Given the description of an element on the screen output the (x, y) to click on. 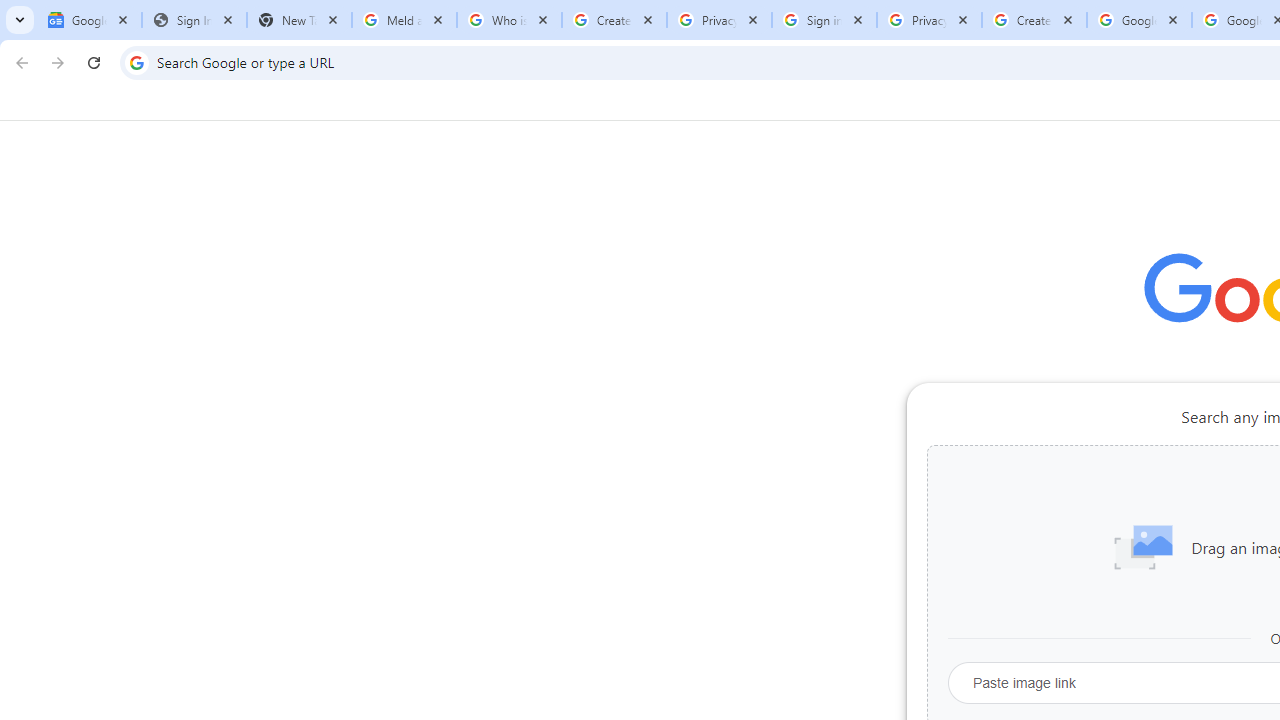
New Tab (299, 20)
Who is my administrator? - Google Account Help (509, 20)
Google News (89, 20)
Create your Google Account (613, 20)
More actions for Chrome Web Store shortcut (1208, 466)
Chrome Web Store (1167, 504)
Create your Google Account (1033, 20)
